Given the description of an element on the screen output the (x, y) to click on. 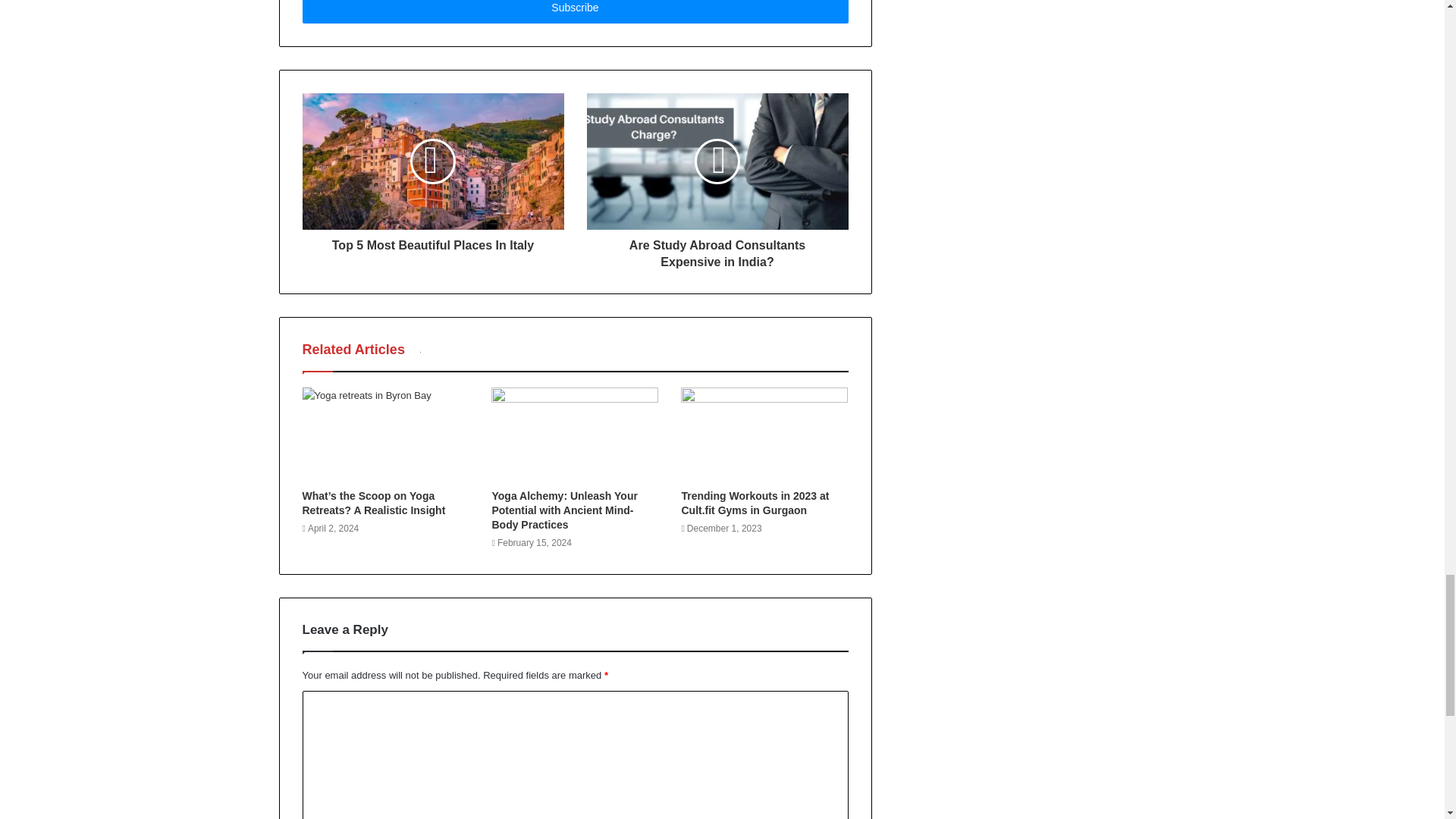
Subscribe (574, 11)
